Given the description of an element on the screen output the (x, y) to click on. 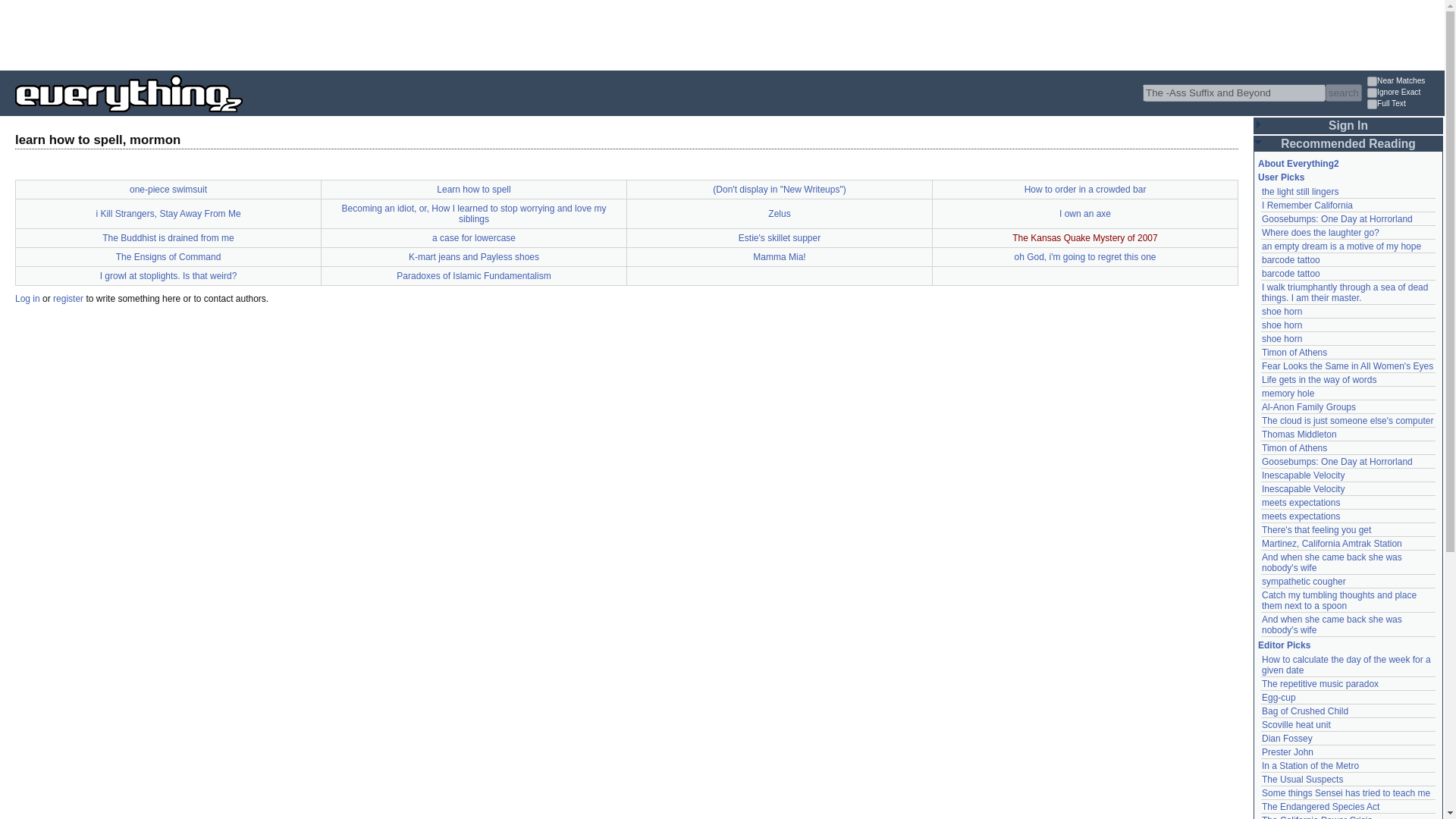
Learn how to spell (473, 189)
Search for text within writeups (1404, 104)
Where does the laughter go? (1320, 232)
oh God, i'm going to regret this one (1084, 256)
I growl at stoplights. Is that weird? (168, 276)
Search within Everything2 (1342, 92)
The -Ass Suffix and Beyond (1233, 92)
How to order in a crowded bar (1086, 189)
Advertisement (275, 33)
K-mart jeans and Payless shoes (473, 256)
